Given the description of an element on the screen output the (x, y) to click on. 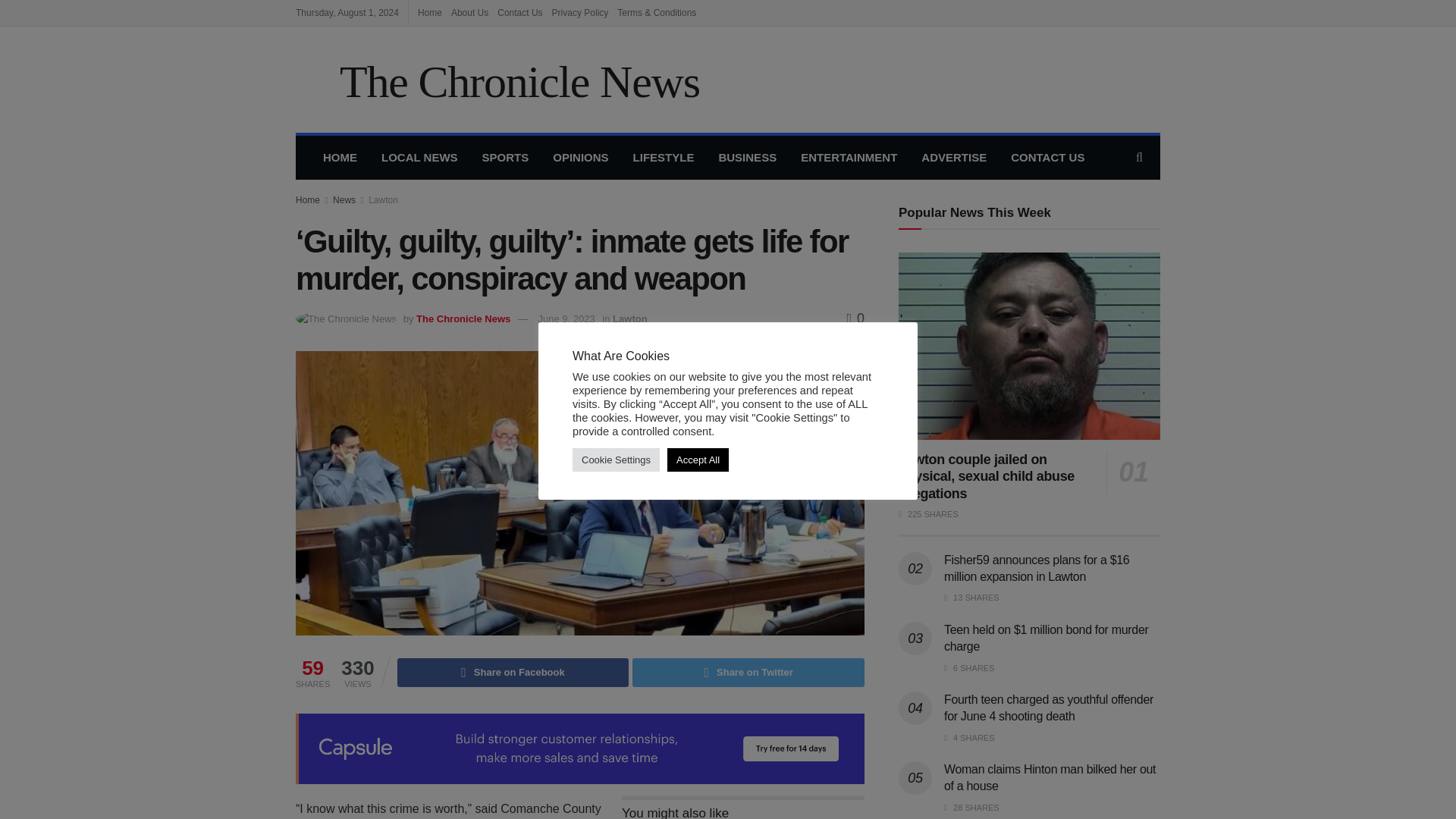
The Chronicle News (463, 318)
0 (854, 318)
About Us (469, 12)
HOME (340, 157)
Home (429, 12)
June 9, 2023 (566, 318)
LIFESTYLE (663, 157)
OPINIONS (580, 157)
ADVERTISE (953, 157)
The Chronicle News (497, 79)
SPORTS (505, 157)
Lawton (382, 199)
Privacy Policy (579, 12)
Home (307, 199)
ENTERTAINMENT (848, 157)
